Given the description of an element on the screen output the (x, y) to click on. 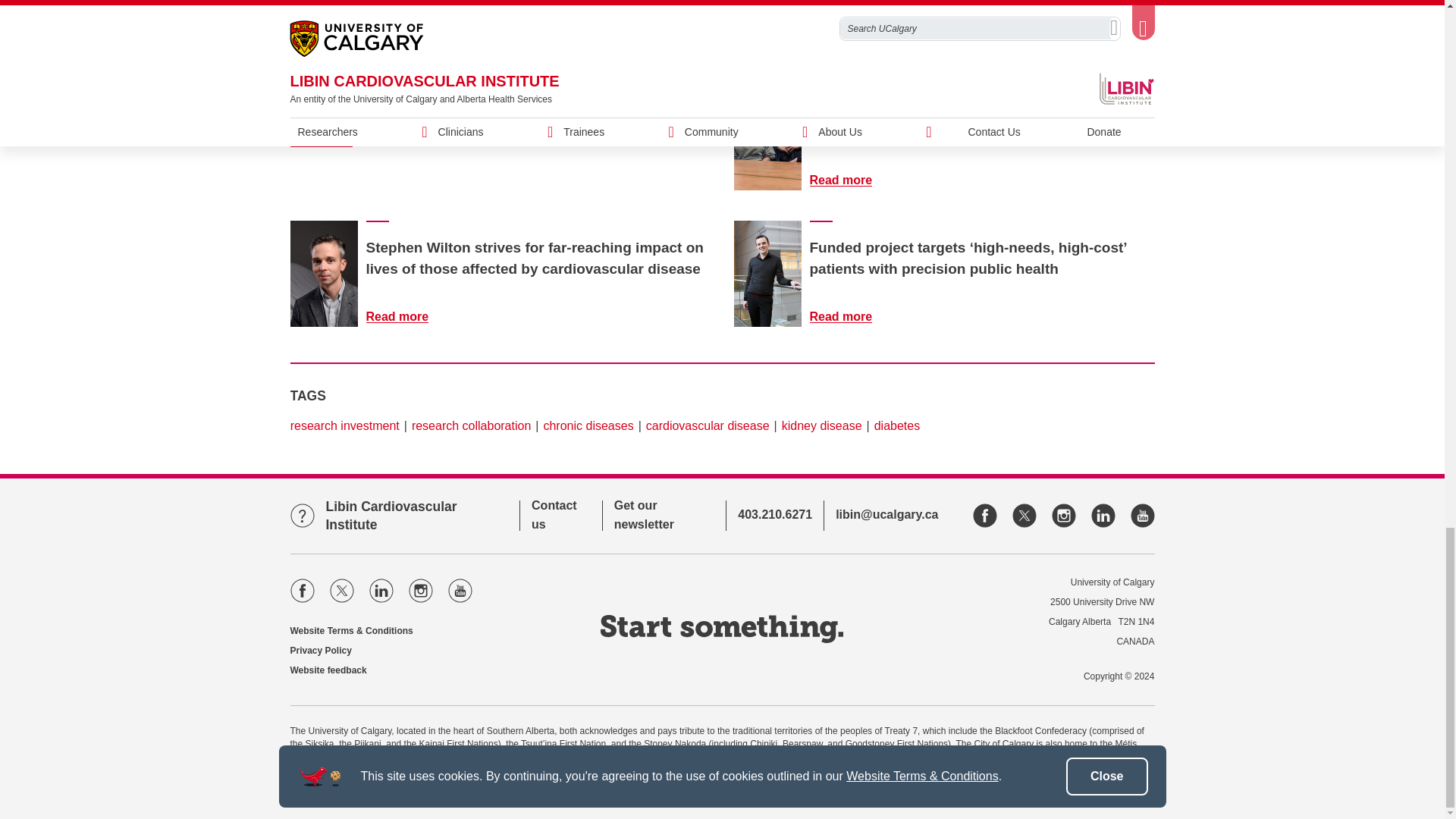
Study investigates the importance of patient engagement  (330, 140)
